Given the description of an element on the screen output the (x, y) to click on. 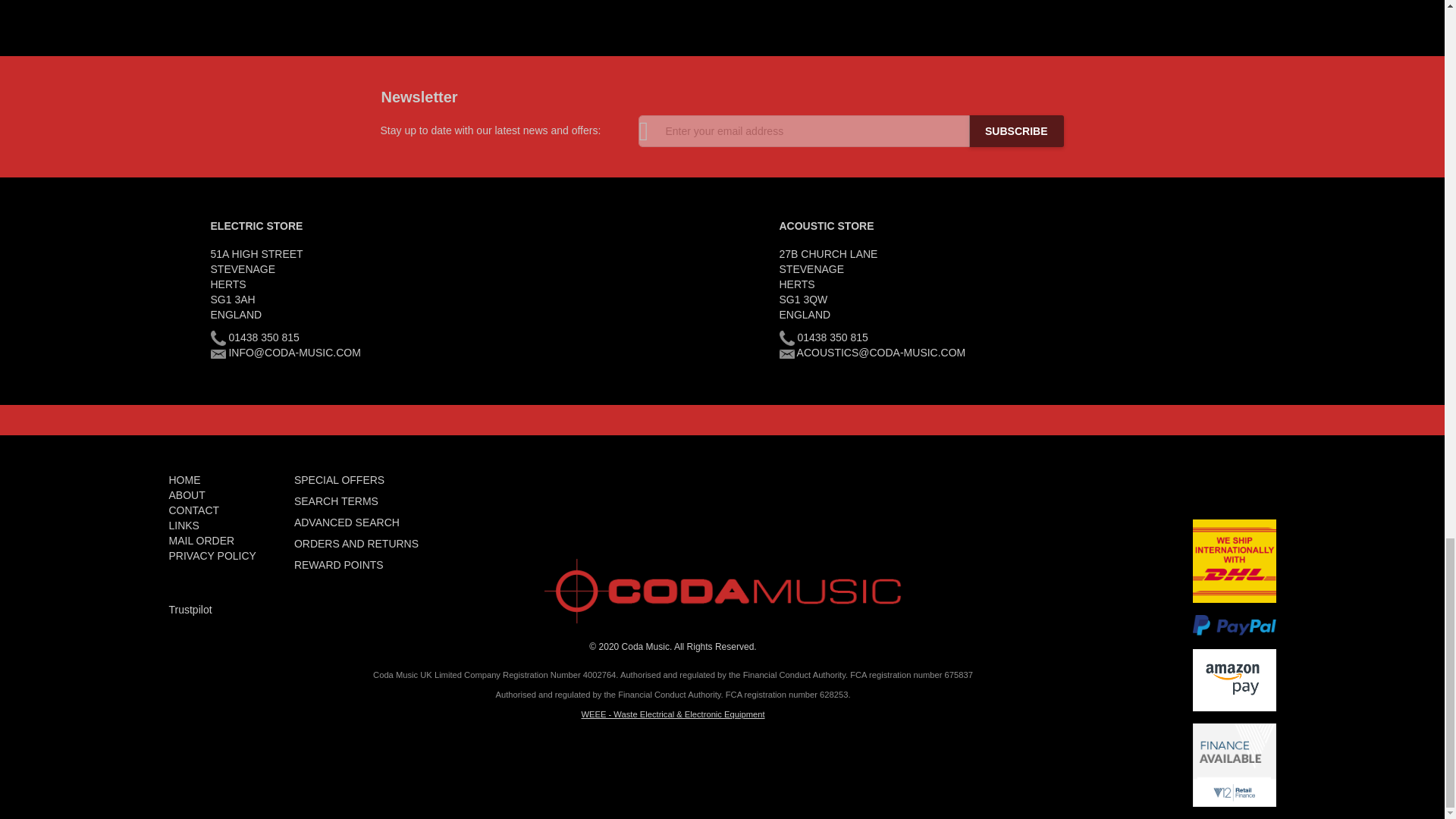
Subscribe (1015, 131)
Coda Music (721, 590)
